Given the description of an element on the screen output the (x, y) to click on. 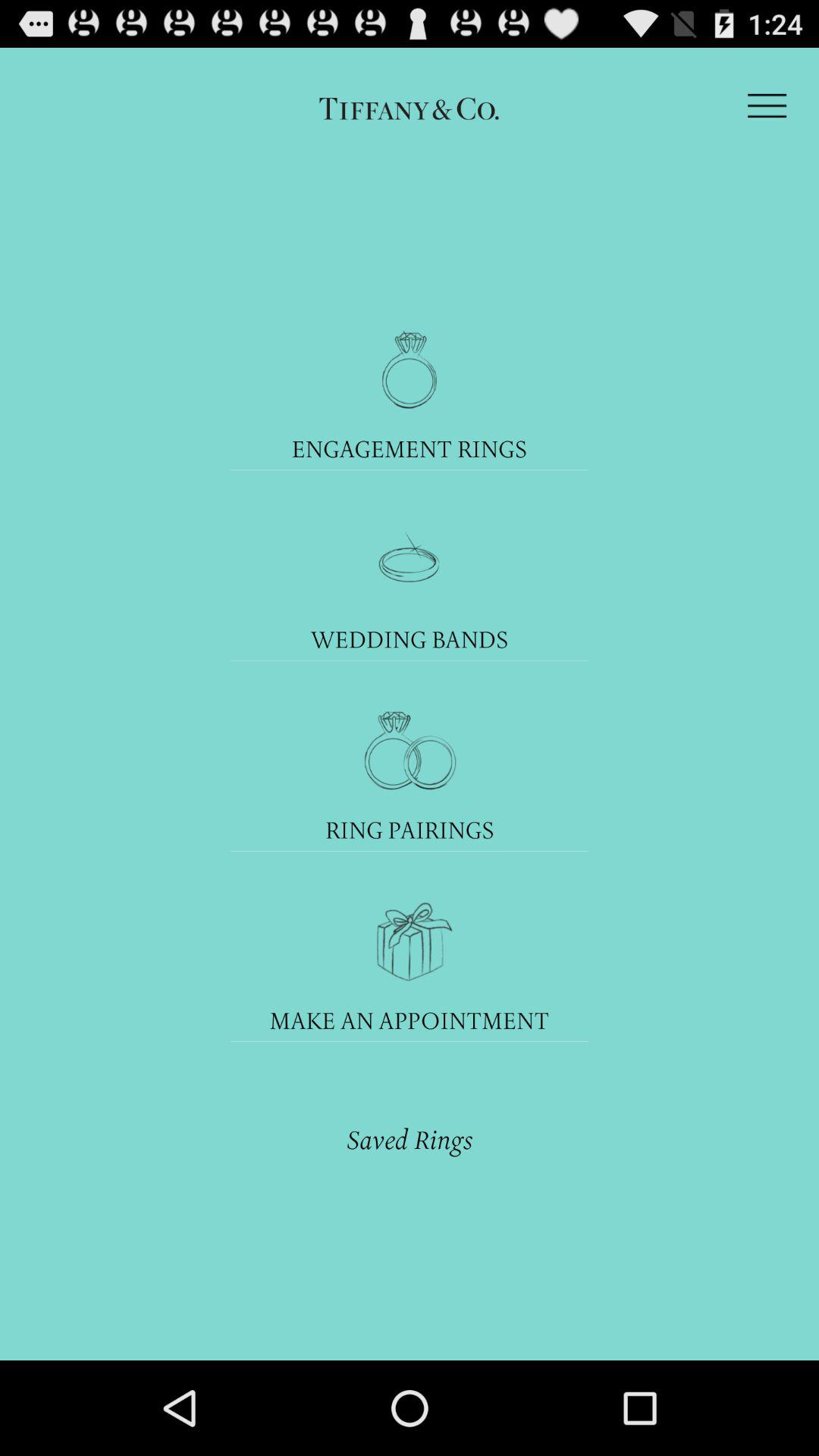
jump to engagement rings icon (409, 448)
